Given the description of an element on the screen output the (x, y) to click on. 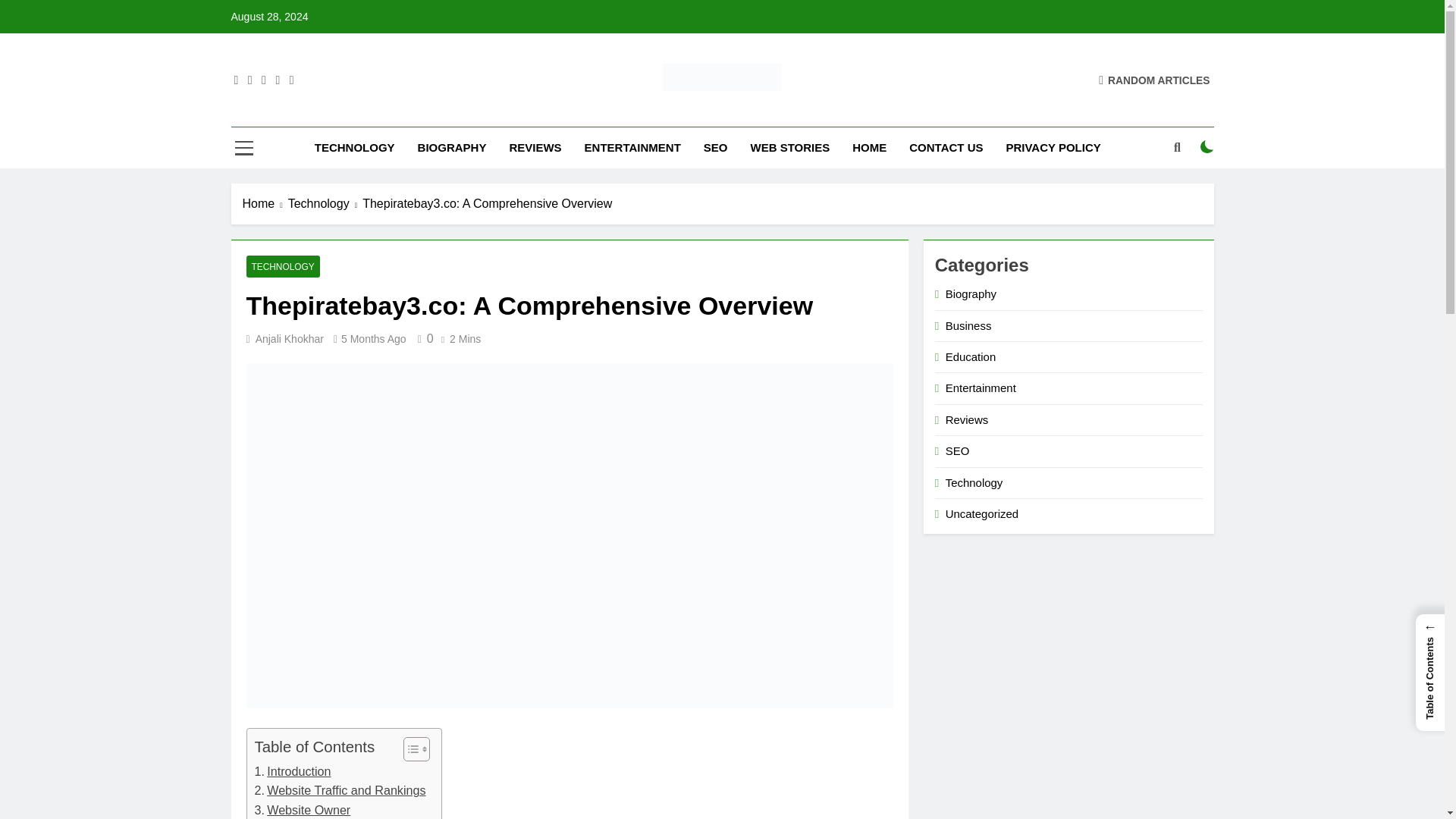
Website Traffic and Rankings (340, 790)
BIOGRAPHY (451, 147)
WEB STORIES (789, 147)
Technology (325, 203)
HOME (869, 147)
ENTERTAINMENT (633, 147)
PRIVACY POLICY (1053, 147)
CONTACT US (946, 147)
Blogg (522, 112)
5 Months Ago (373, 338)
